Given the description of an element on the screen output the (x, y) to click on. 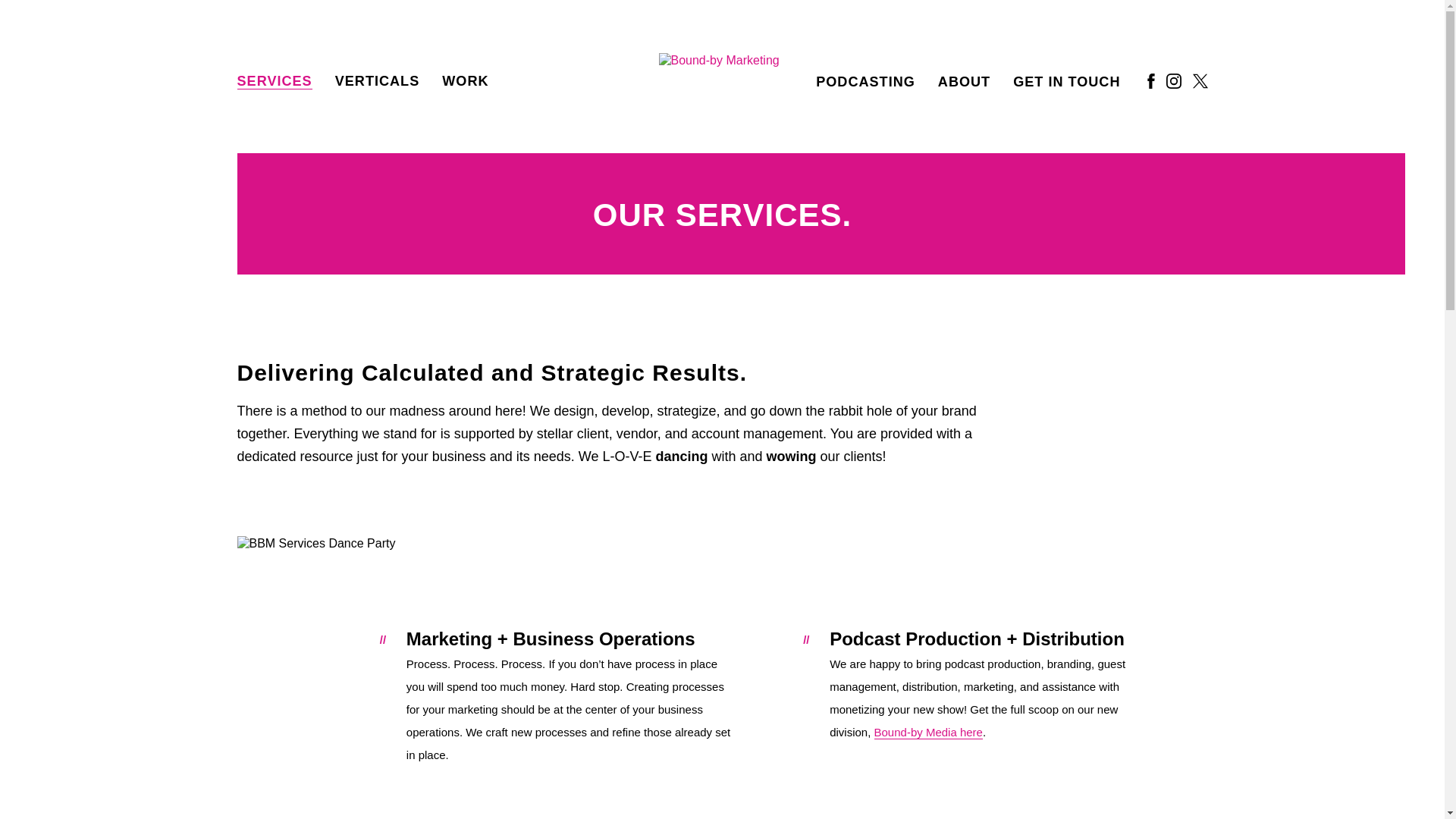
ABOUT (963, 82)
SERVICES (273, 81)
VERTICALS (377, 81)
PODCASTING (865, 82)
GET IN TOUCH (1066, 82)
WORK (464, 81)
Bound-by Media here (928, 732)
